Given the description of an element on the screen output the (x, y) to click on. 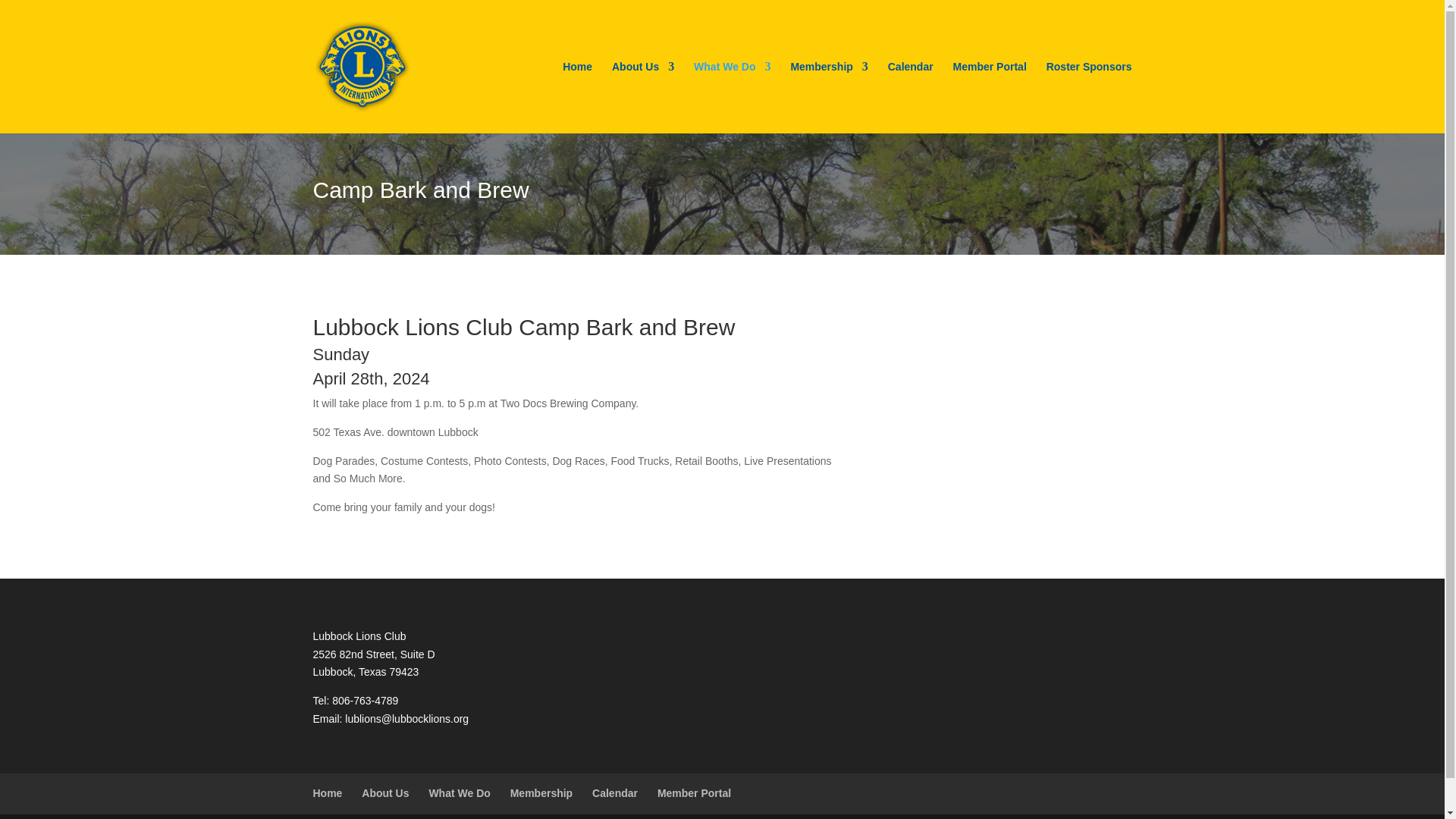
Member Portal (989, 97)
What We Do (732, 97)
Roster Sponsors (1089, 97)
Membership (828, 97)
